Given the description of an element on the screen output the (x, y) to click on. 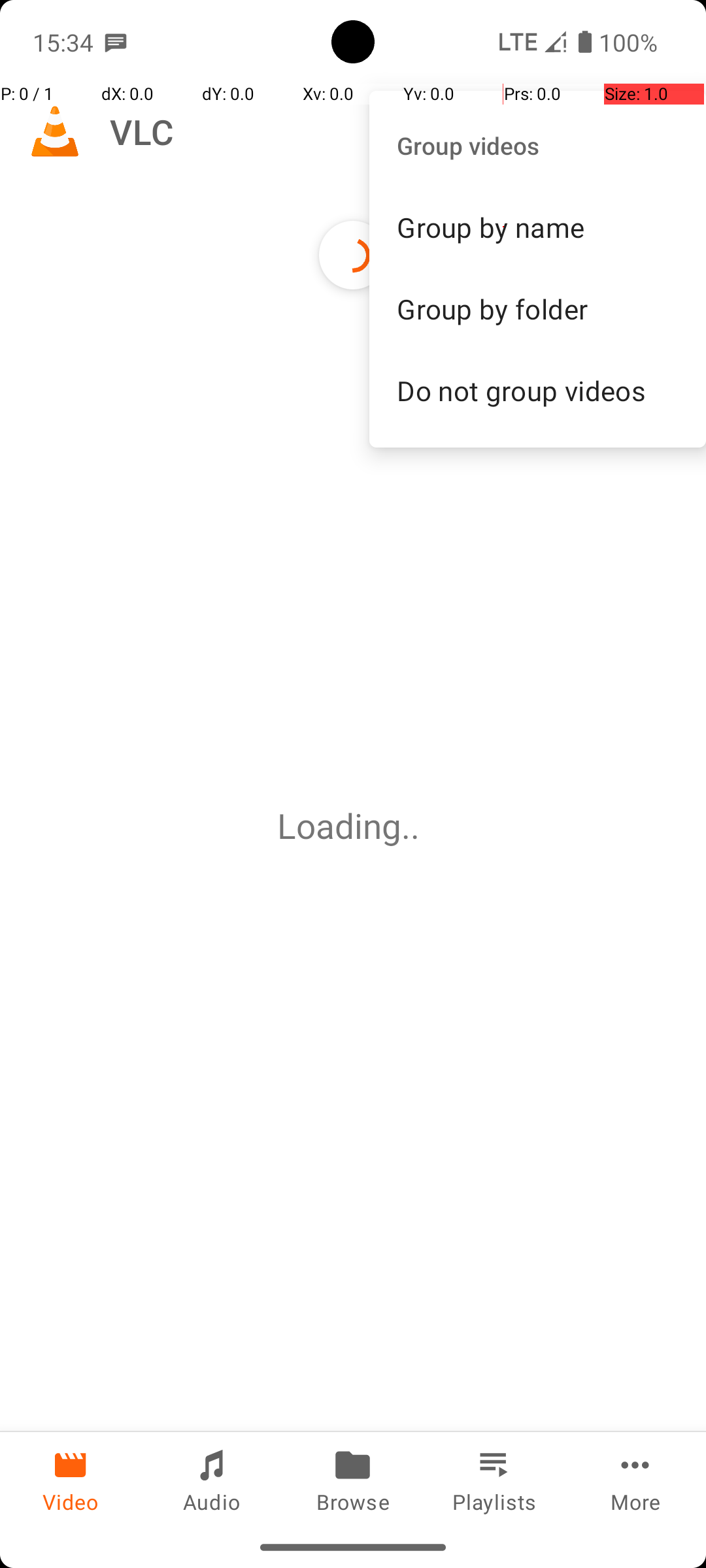
Group videos Element type: android.widget.TextView (537, 145)
Group by name Element type: android.widget.TextView (537, 226)
Group by folder Element type: android.widget.TextView (537, 308)
Do not group videos Element type: android.widget.TextView (537, 389)
